Given the description of an element on the screen output the (x, y) to click on. 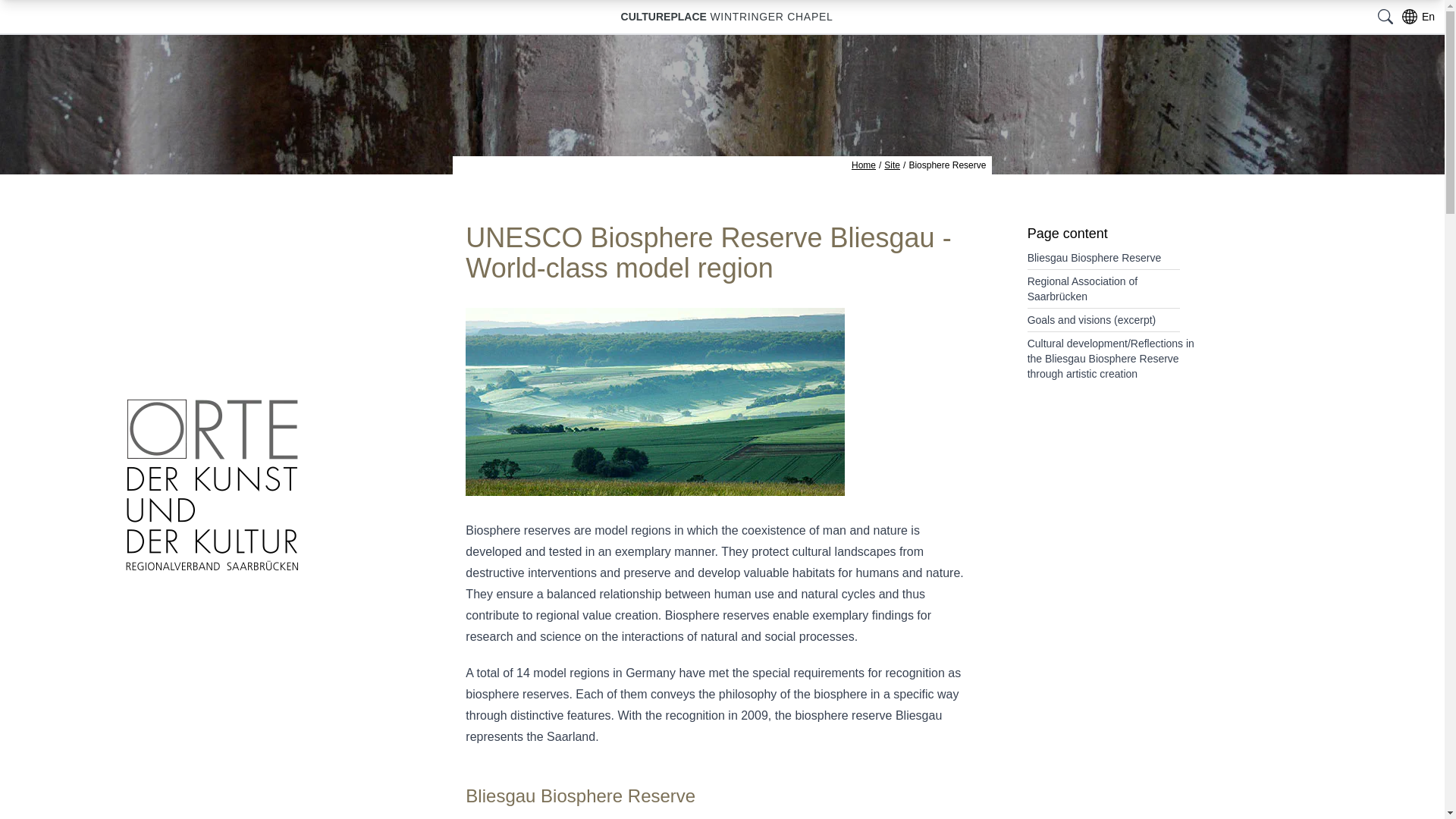
CULTUREPLACE WINTRINGER CHAPEL (726, 16)
